Given the description of an element on the screen output the (x, y) to click on. 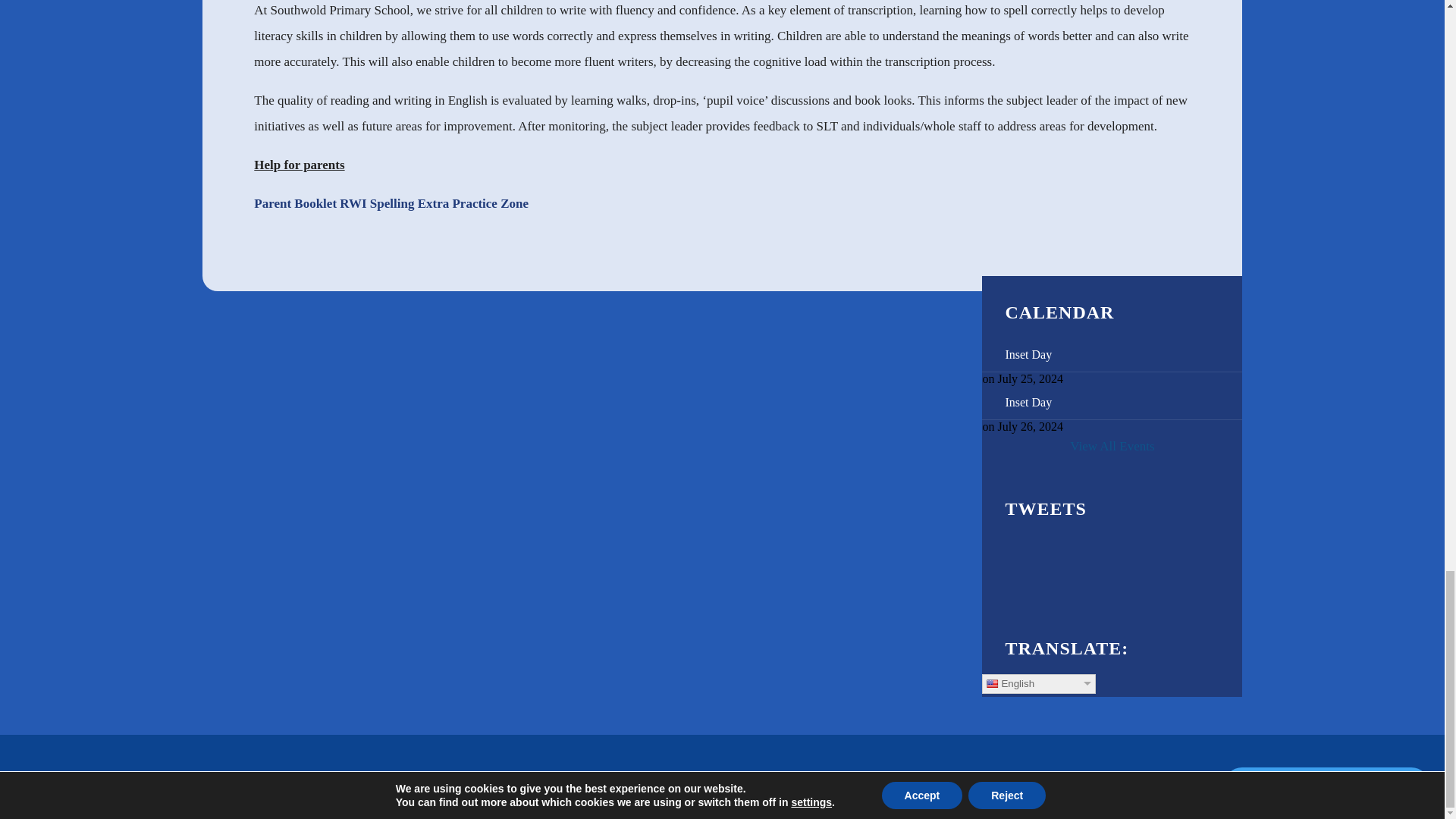
English (1038, 683)
